Given the description of an element on the screen output the (x, y) to click on. 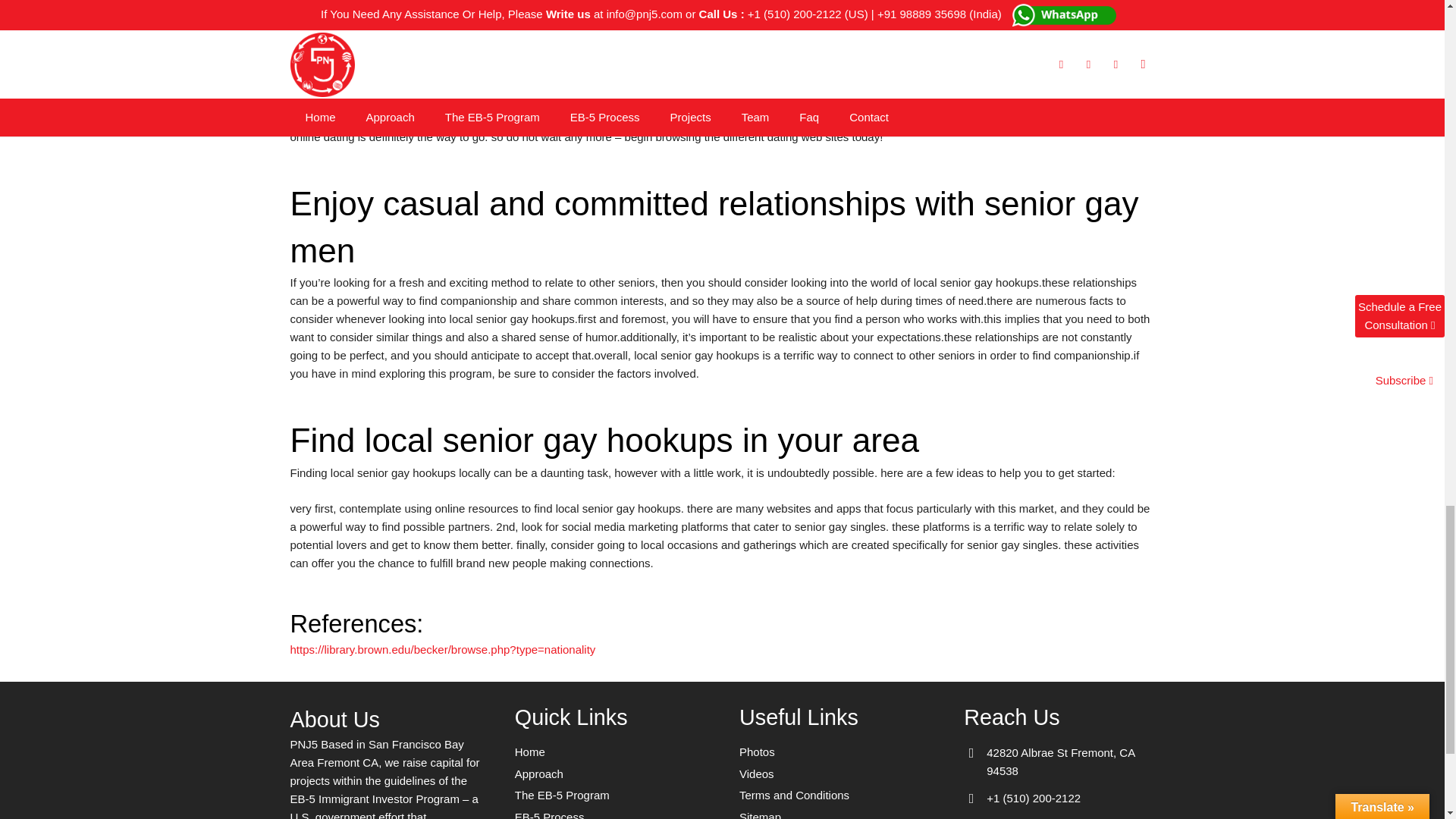
Photos (756, 751)
Approach (539, 773)
Videos (756, 773)
EB-5 Process (550, 814)
Sitemap (759, 814)
Terms and Conditions (793, 794)
The EB-5 Program (562, 794)
Home (529, 751)
